Given the description of an element on the screen output the (x, y) to click on. 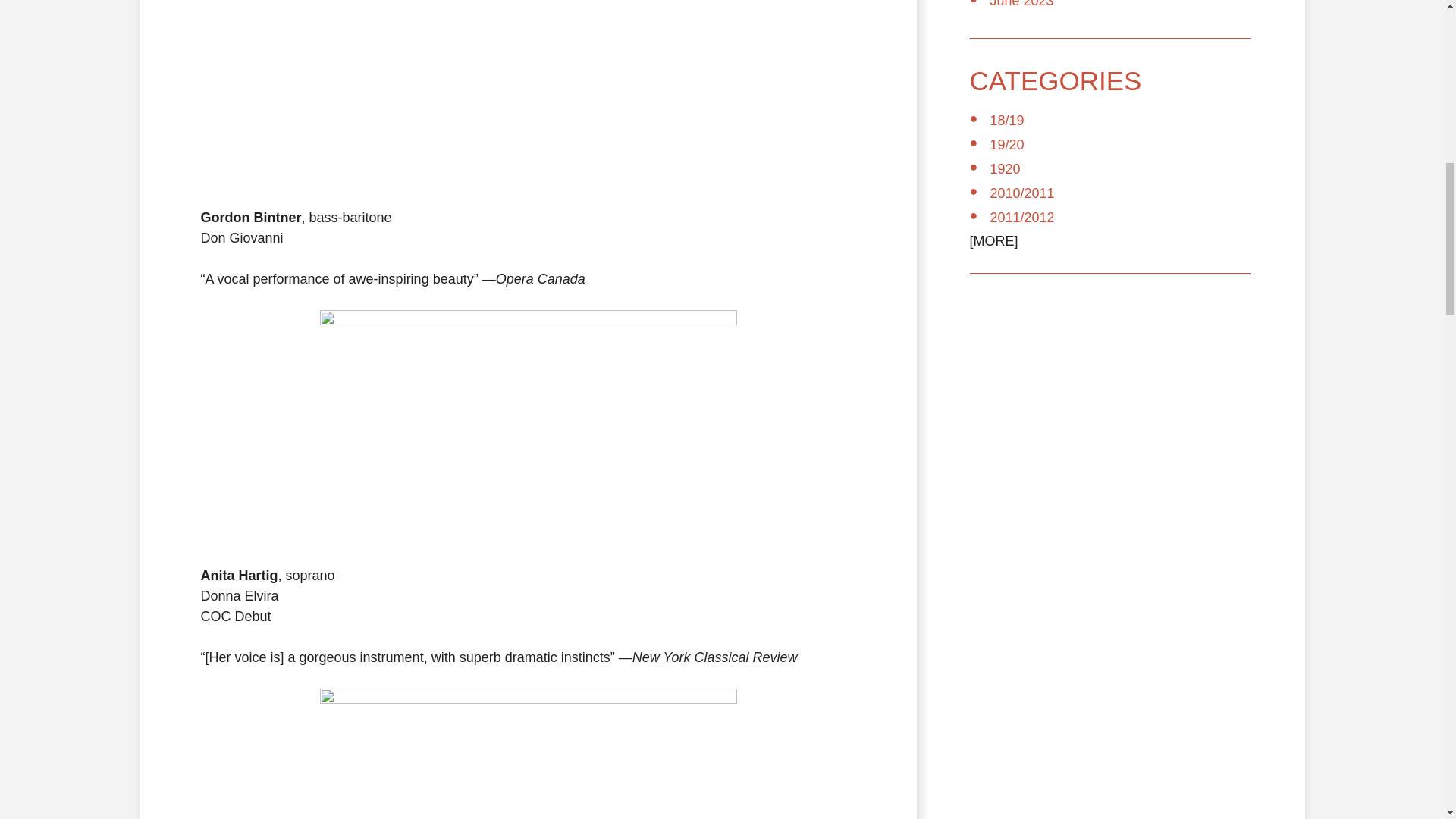
June 2023 (1022, 4)
